Given the description of an element on the screen output the (x, y) to click on. 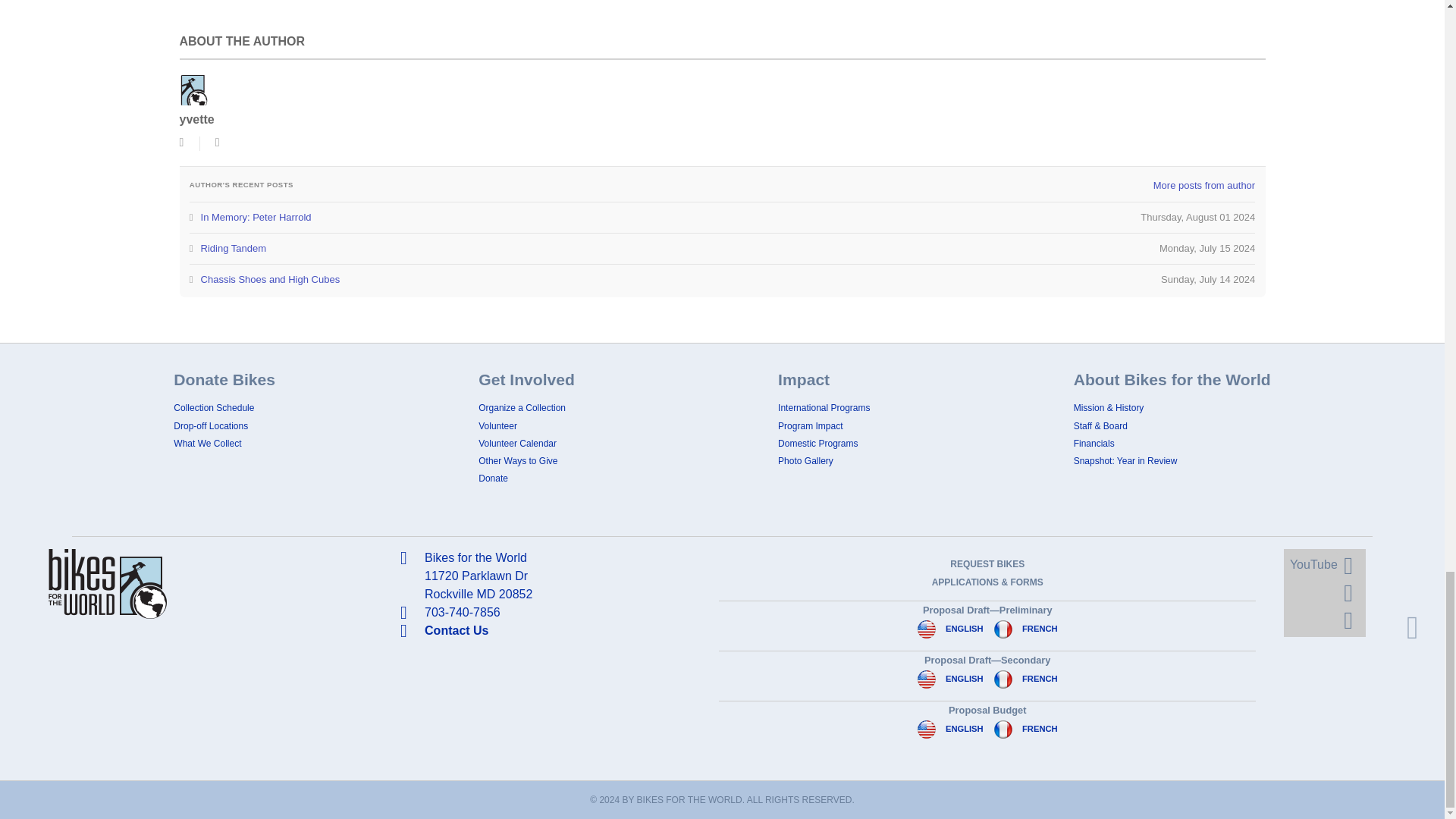
Other Ways to Give (518, 460)
Volunteer Calendar (517, 443)
Drop-off Locations (210, 425)
Volunteer (497, 425)
What We Collect (207, 443)
Collection Schedule (213, 407)
Organize a Collection (522, 407)
